Given the description of an element on the screen output the (x, y) to click on. 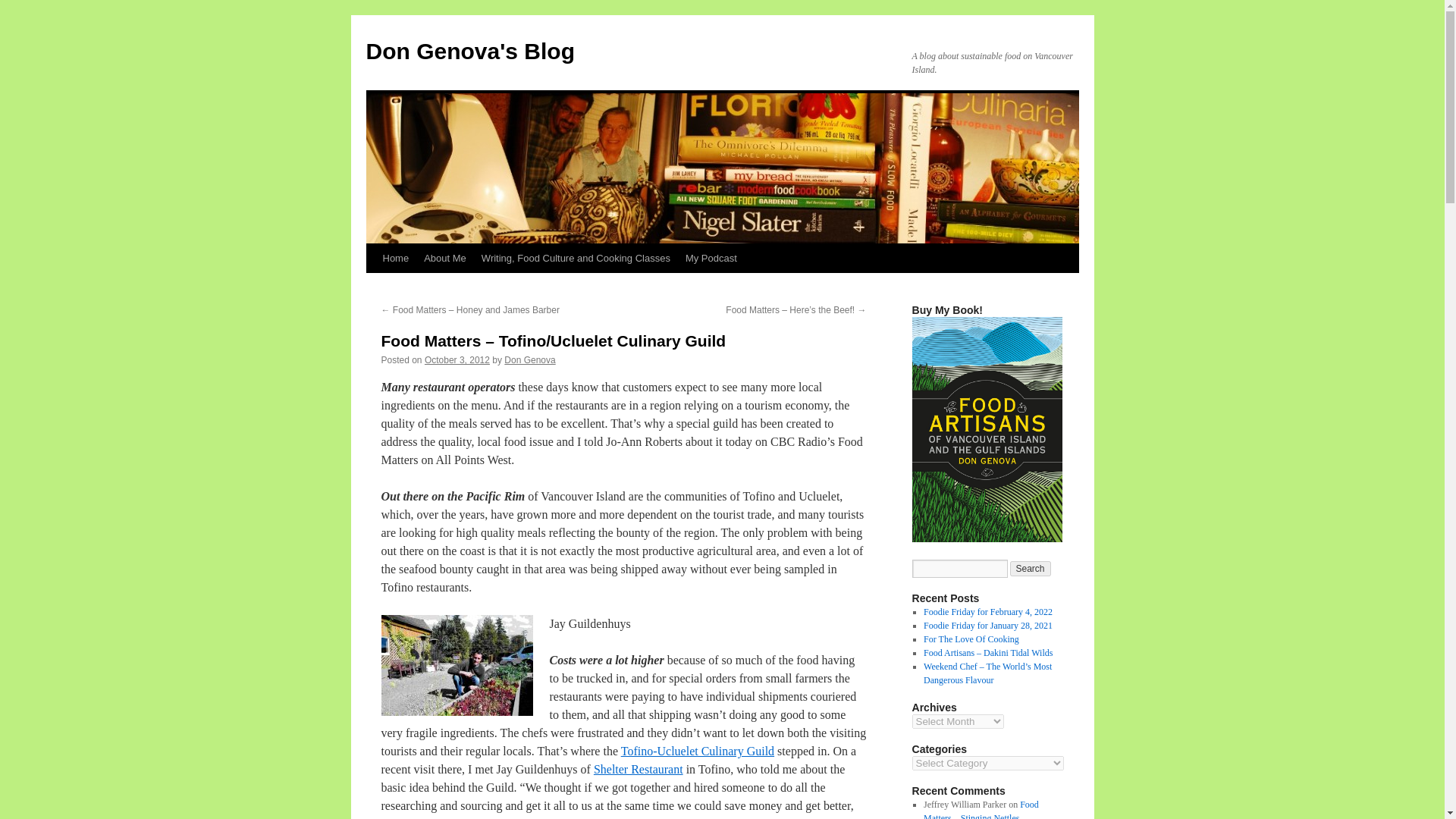
Don Genova's Blog (470, 50)
October 3, 2012 (457, 359)
Home (395, 258)
8:18 pm (457, 359)
Tofino-Ucluelet Culinary Guild (697, 750)
Don Genova (528, 359)
Writing, Food Culture and Cooking Classes (576, 258)
My Podcast (711, 258)
Shelter Restaurant (638, 768)
About Me (445, 258)
